Given the description of an element on the screen output the (x, y) to click on. 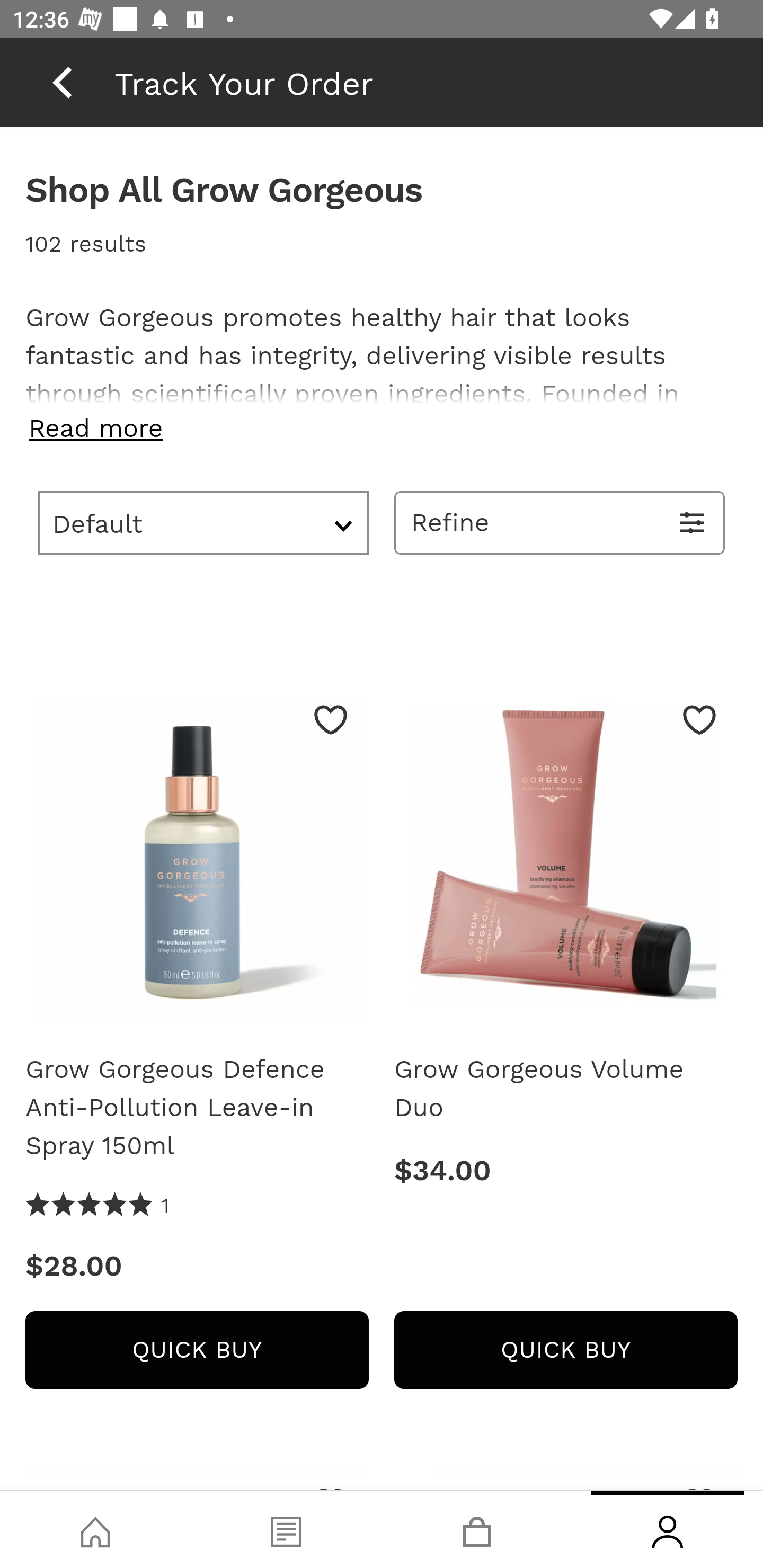
back (61, 82)
Read more (381, 427)
Default (203, 522)
Refine (559, 522)
Grow Gorgeous Volume Duo (565, 860)
Save to Wishlist (330, 719)
Save to Wishlist (698, 719)
Grow Gorgeous Volume Duo (565, 1088)
Price: $34.00 (565, 1171)
5.0 Stars 1 Reviews (97, 1206)
Price: $28.00 (196, 1266)
QUICK BUY GROW GORGEOUS VOLUME DUO (565, 1349)
Shop, tab, 1 of 4 (95, 1529)
Blog, tab, 2 of 4 (285, 1529)
Basket, tab, 3 of 4 (476, 1529)
Account, tab, 4 of 4 (667, 1529)
